Given the description of an element on the screen output the (x, y) to click on. 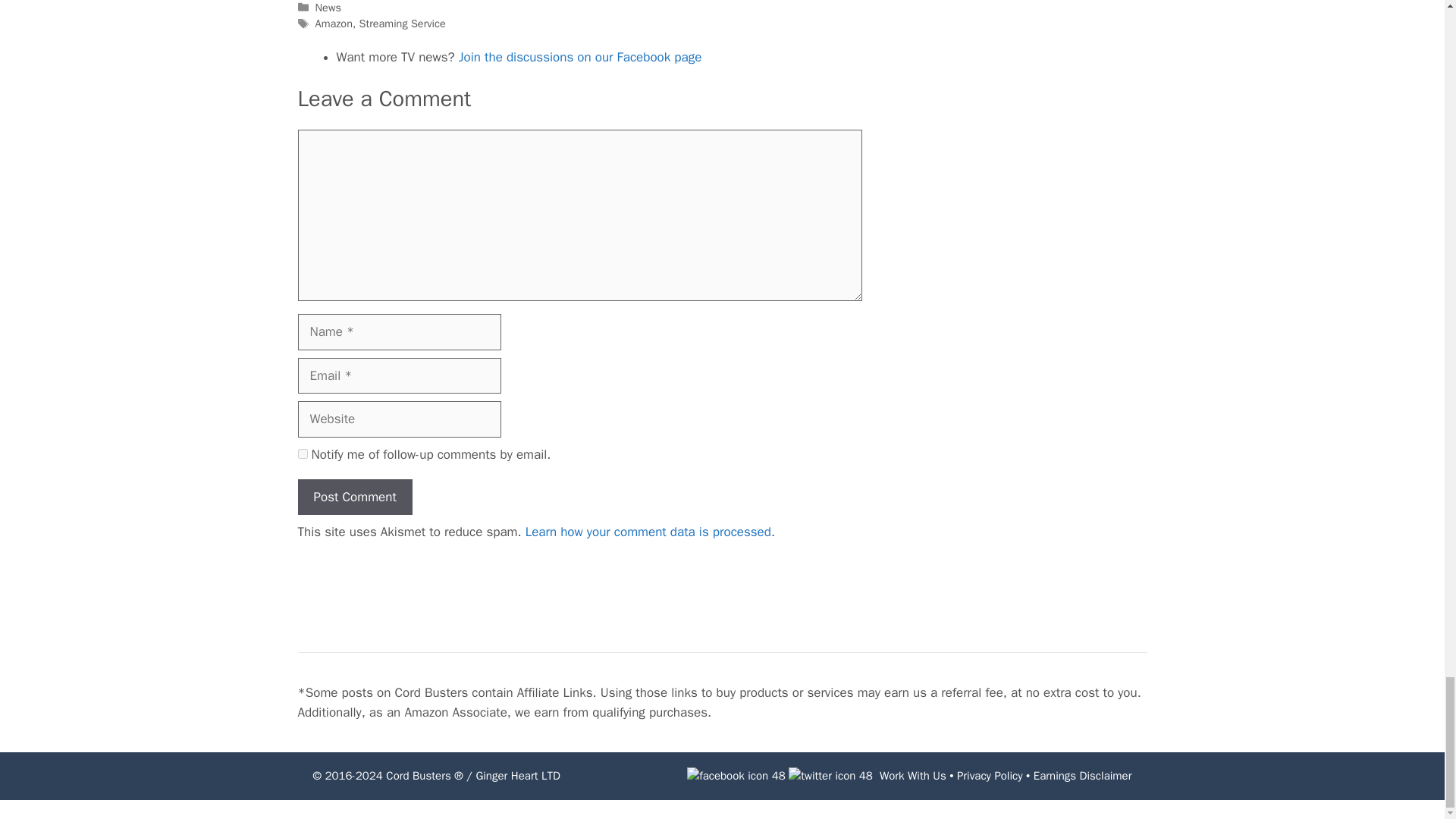
Post Comment (354, 497)
Earnings Disclaimer (1082, 775)
News (327, 7)
Streaming Service (402, 23)
Learn how your comment data is processed (648, 531)
Join the discussions on our Facebook page (579, 57)
subscribe (302, 453)
Privacy Policy (989, 775)
Work With Us (912, 775)
Amazon (333, 23)
Post Comment (354, 497)
